Given the description of an element on the screen output the (x, y) to click on. 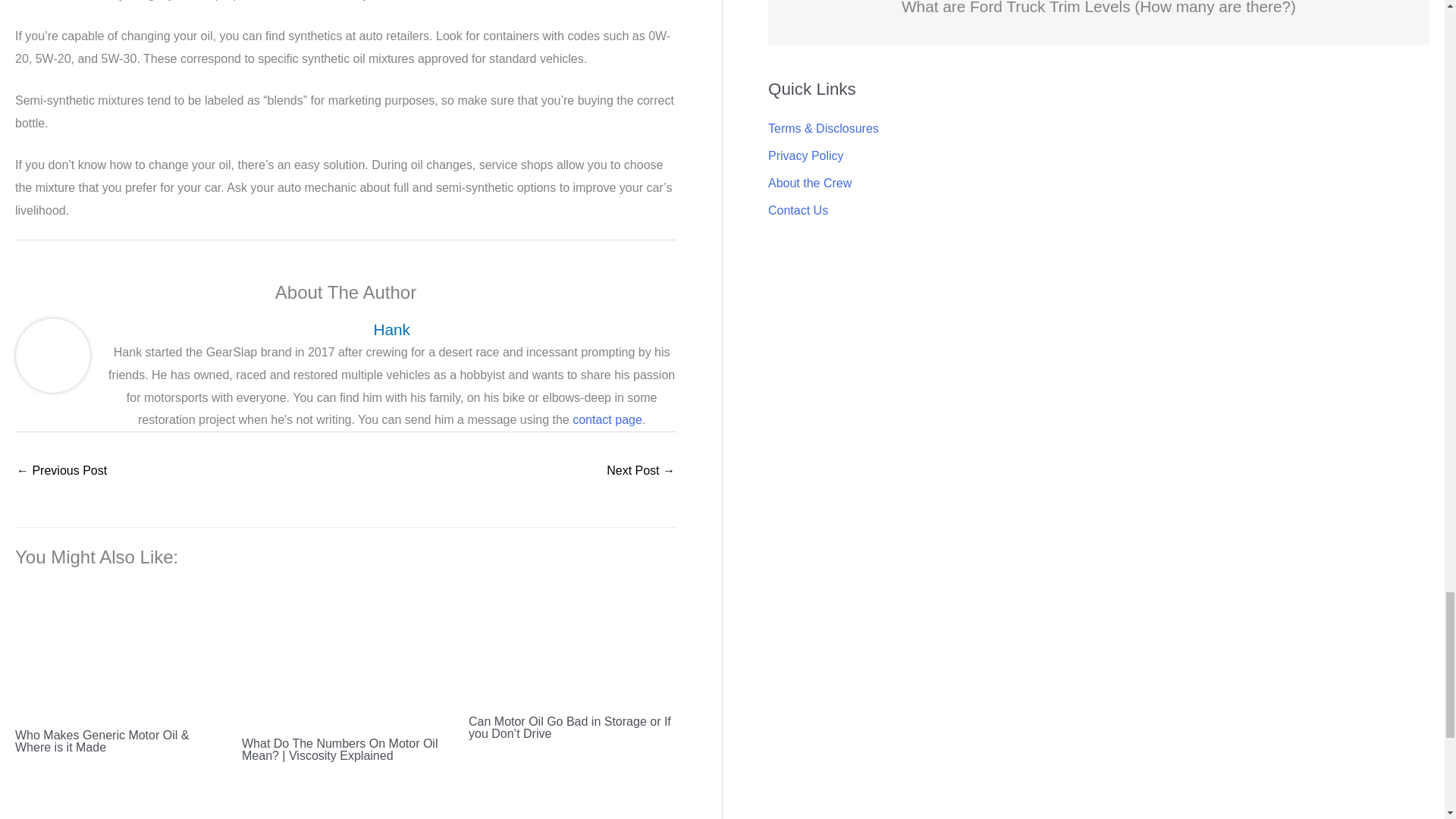
contact page (607, 419)
How Do You Fill Up A Car Battery With "Charging Fluid"? (641, 471)
Hank (391, 329)
What is a Contingency Program in Auto Racing (61, 471)
